Given the description of an element on the screen output the (x, y) to click on. 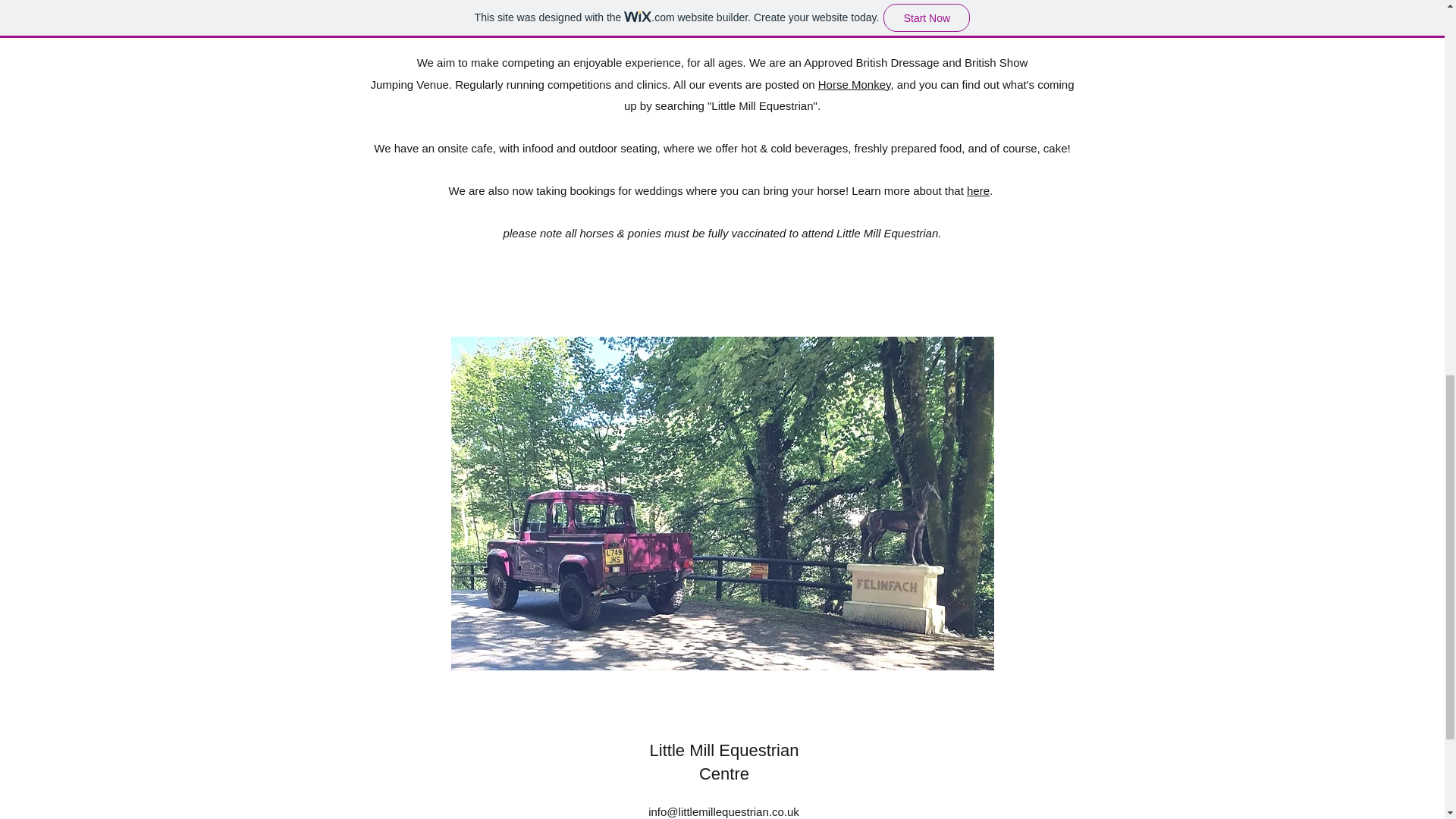
Little Mill Equestrian Centre (724, 761)
Horse Monkey (854, 83)
here (978, 190)
